Given the description of an element on the screen output the (x, y) to click on. 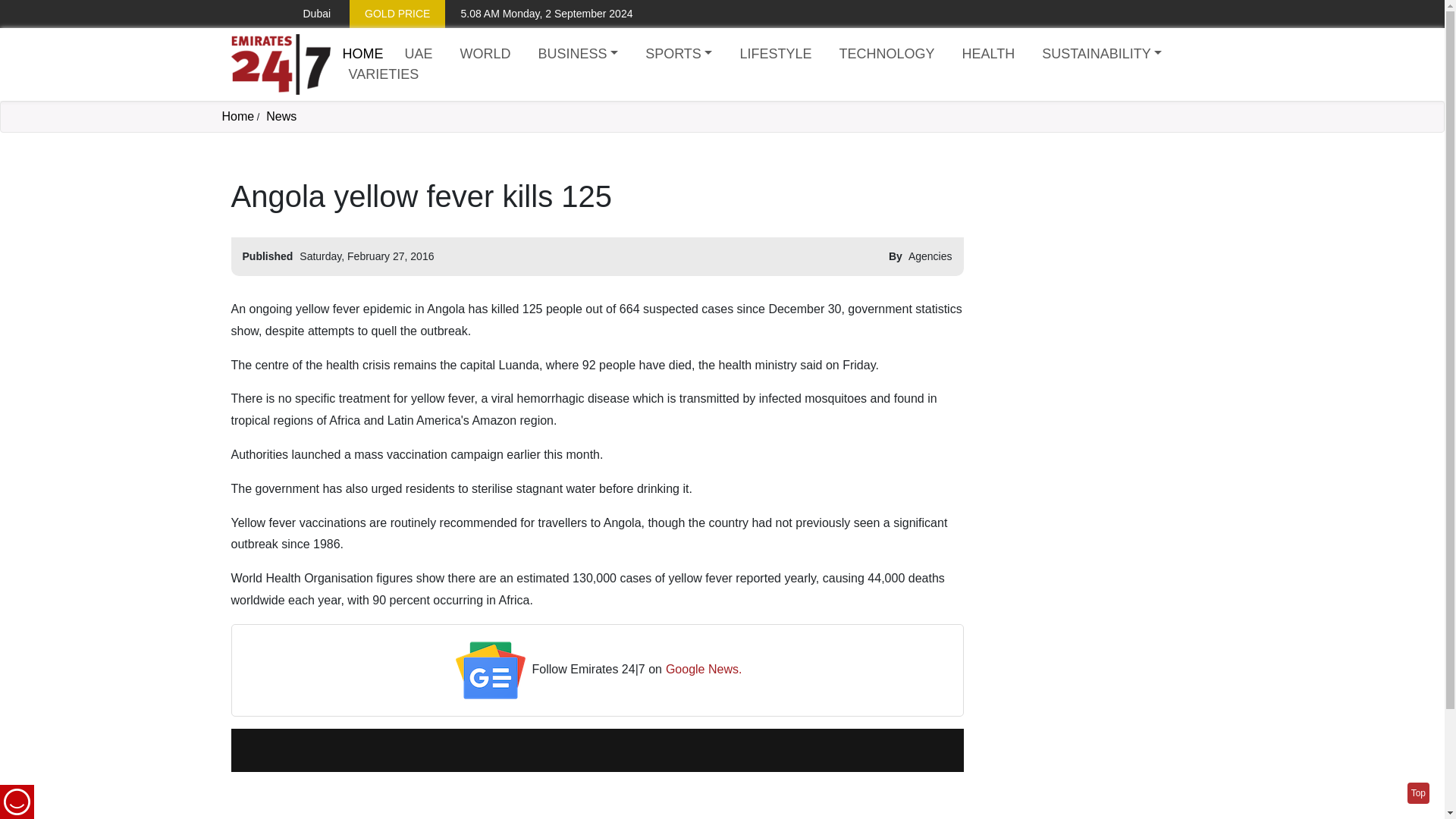
SPORTS (678, 54)
GOLD PRICE (397, 13)
Go to top (1418, 792)
TECHNOLOGY (886, 54)
HOME (363, 53)
BUSINESS (578, 54)
Dubai (305, 13)
UAE (418, 54)
Home (363, 53)
Google News. (703, 669)
